Given the description of an element on the screen output the (x, y) to click on. 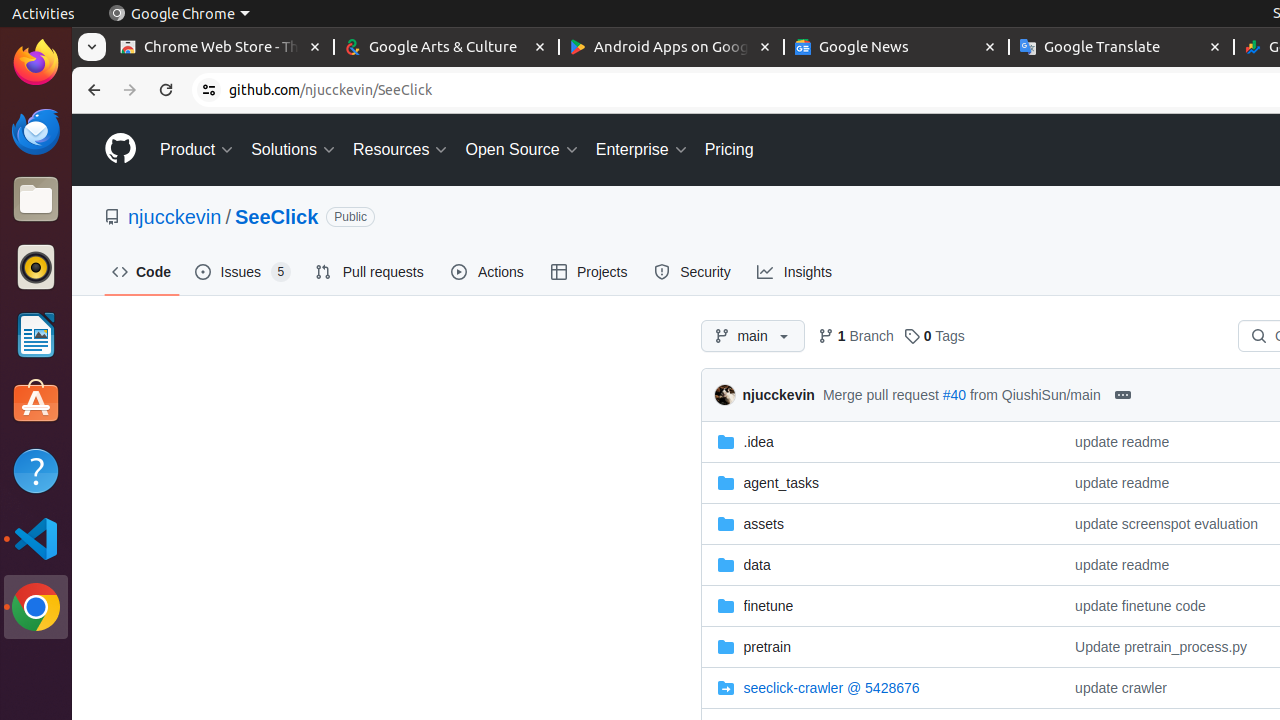
Security Element type: link (693, 272)
agent_tasks, (Directory) Element type: table-cell (880, 482)
commits by njucckevin Element type: link (778, 395)
update crawler Element type: link (1121, 687)
njucckevin Element type: link (728, 395)
